Given the description of an element on the screen output the (x, y) to click on. 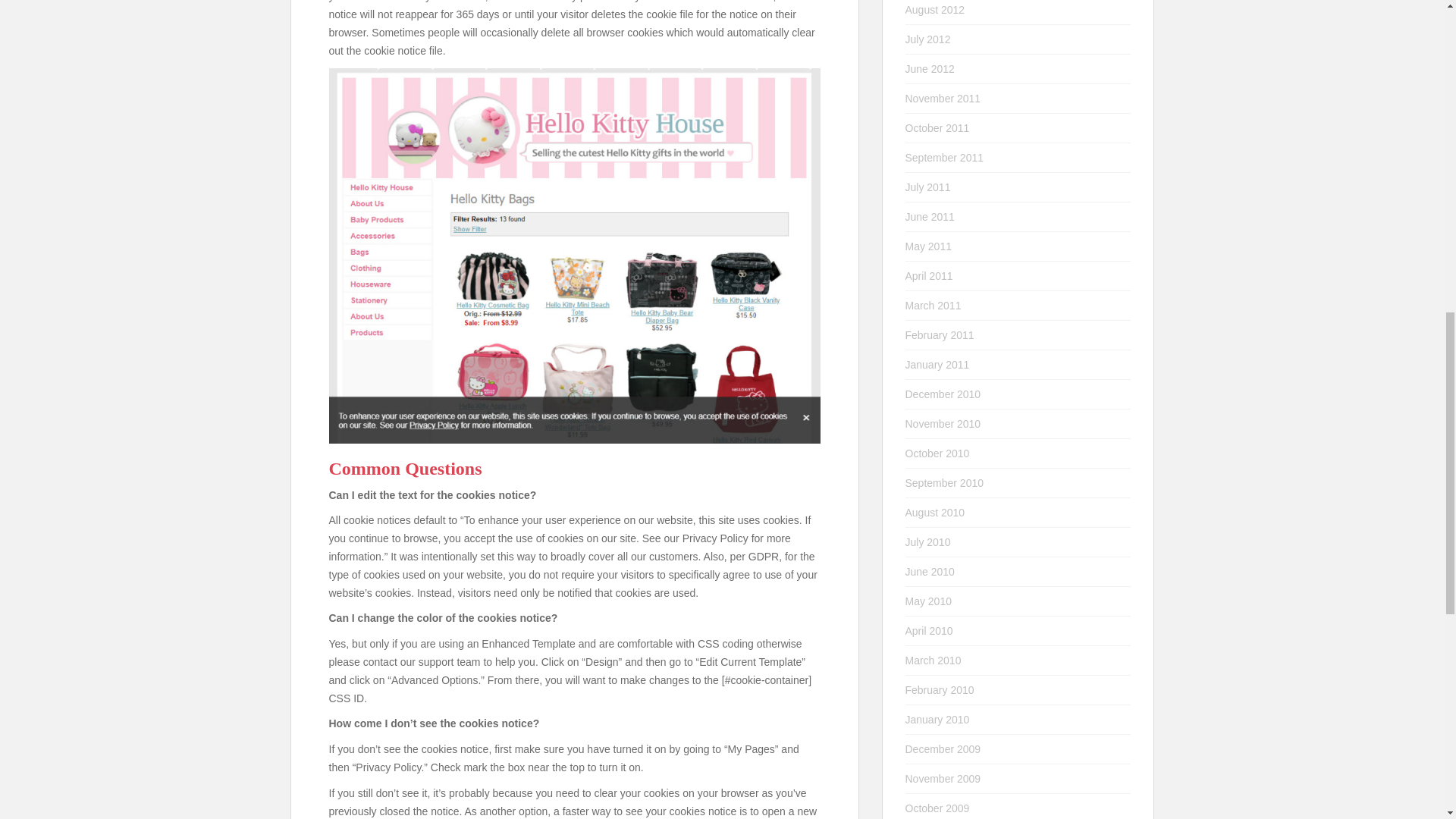
June 2012 (930, 69)
August 2012 (935, 9)
July 2012 (927, 39)
